Given the description of an element on the screen output the (x, y) to click on. 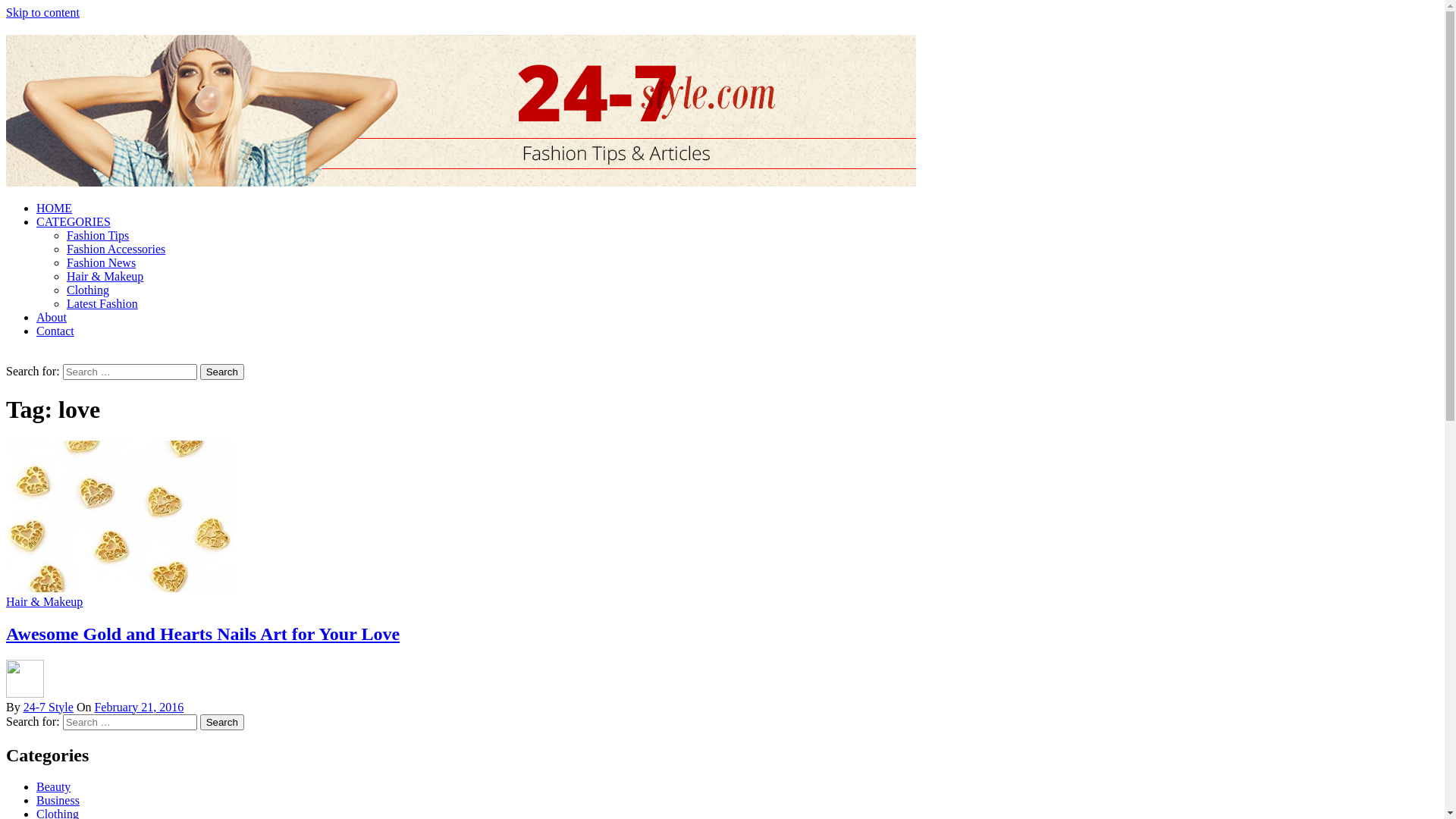
Beauty Element type: text (53, 786)
February 21, 2016 Element type: text (138, 706)
About Element type: text (51, 316)
Search Element type: text (222, 371)
Search Element type: text (222, 722)
Hair & Makeup Element type: text (44, 601)
Fashion Tips Element type: text (97, 235)
Clothing Element type: text (87, 289)
24-7 Style Element type: text (48, 706)
Business Element type: text (57, 799)
HOME Element type: text (54, 207)
Latest Fashion Element type: text (102, 303)
Contact Element type: text (55, 330)
Awesome Gold and Hearts Nails Art for Your Love Element type: text (202, 633)
Hair & Makeup Element type: text (104, 275)
Skip to content Element type: text (42, 12)
Fashion News Element type: text (100, 262)
CATEGORIES Element type: text (73, 221)
Fashion Accessories Element type: text (115, 248)
